Given the description of an element on the screen output the (x, y) to click on. 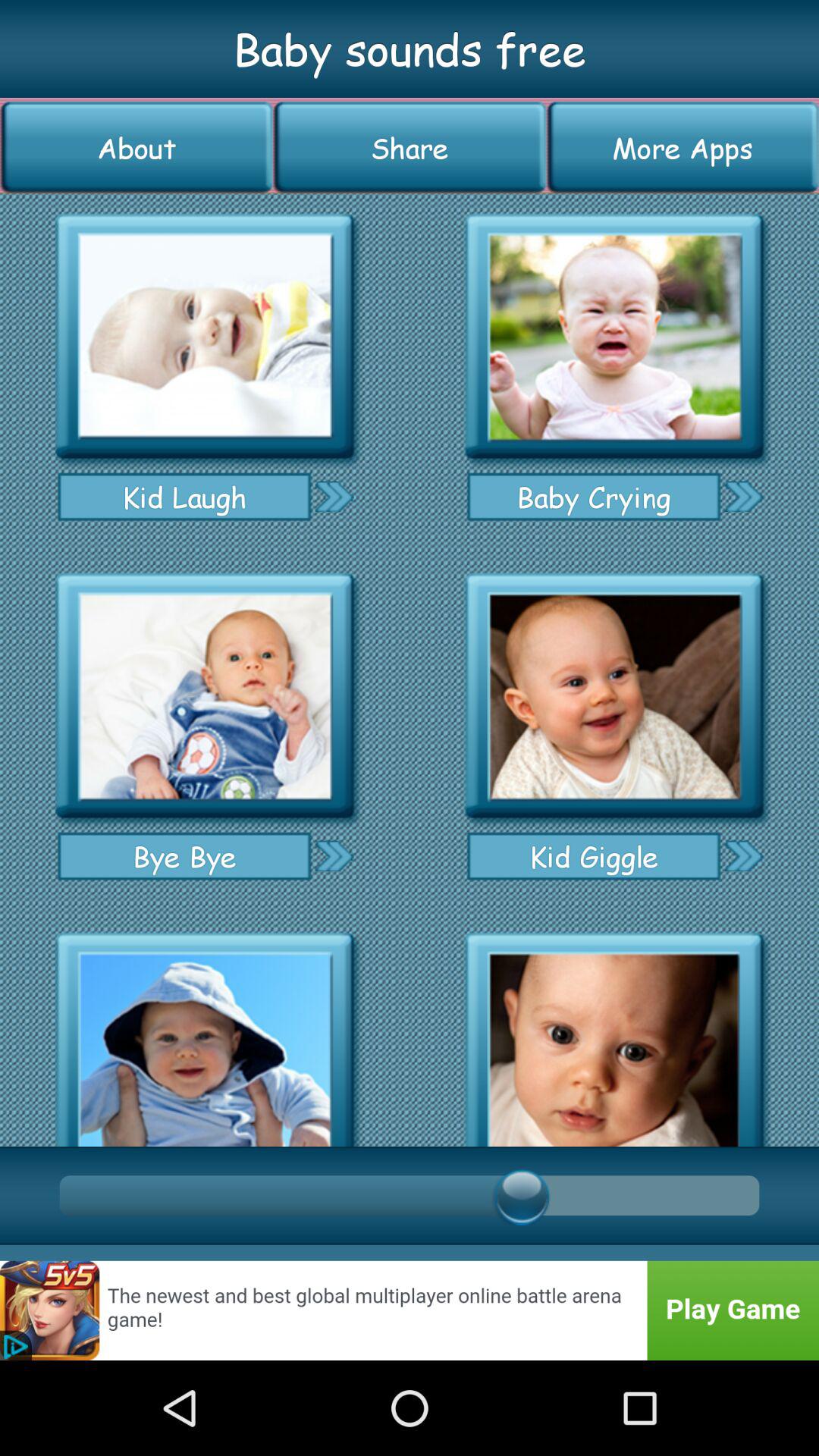
go to next sound (743, 855)
